Given the description of an element on the screen output the (x, y) to click on. 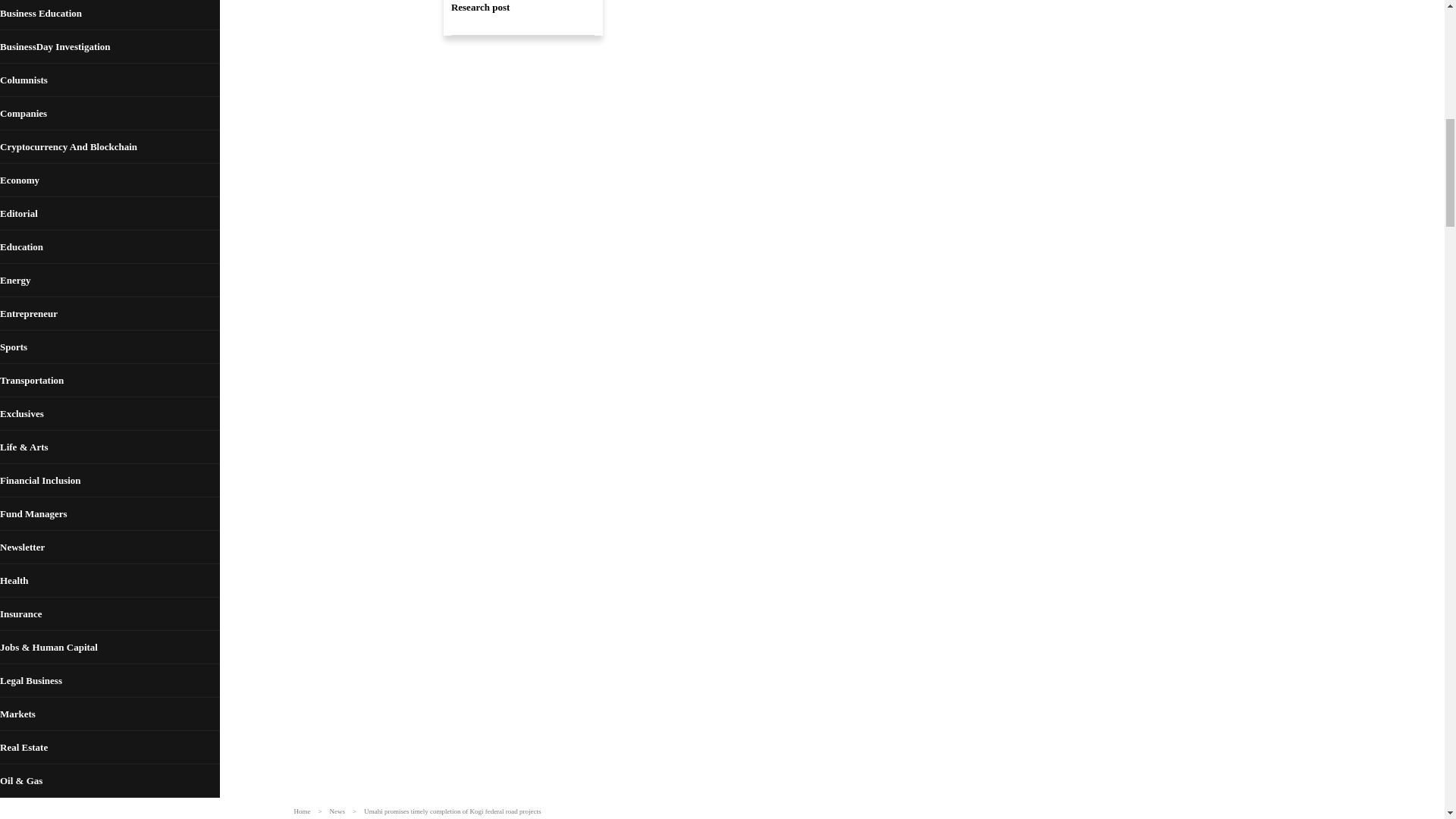
Research post (522, 18)
BusinessDay Investigation (109, 46)
Business Education (109, 15)
Research post (522, 18)
